Given the description of an element on the screen output the (x, y) to click on. 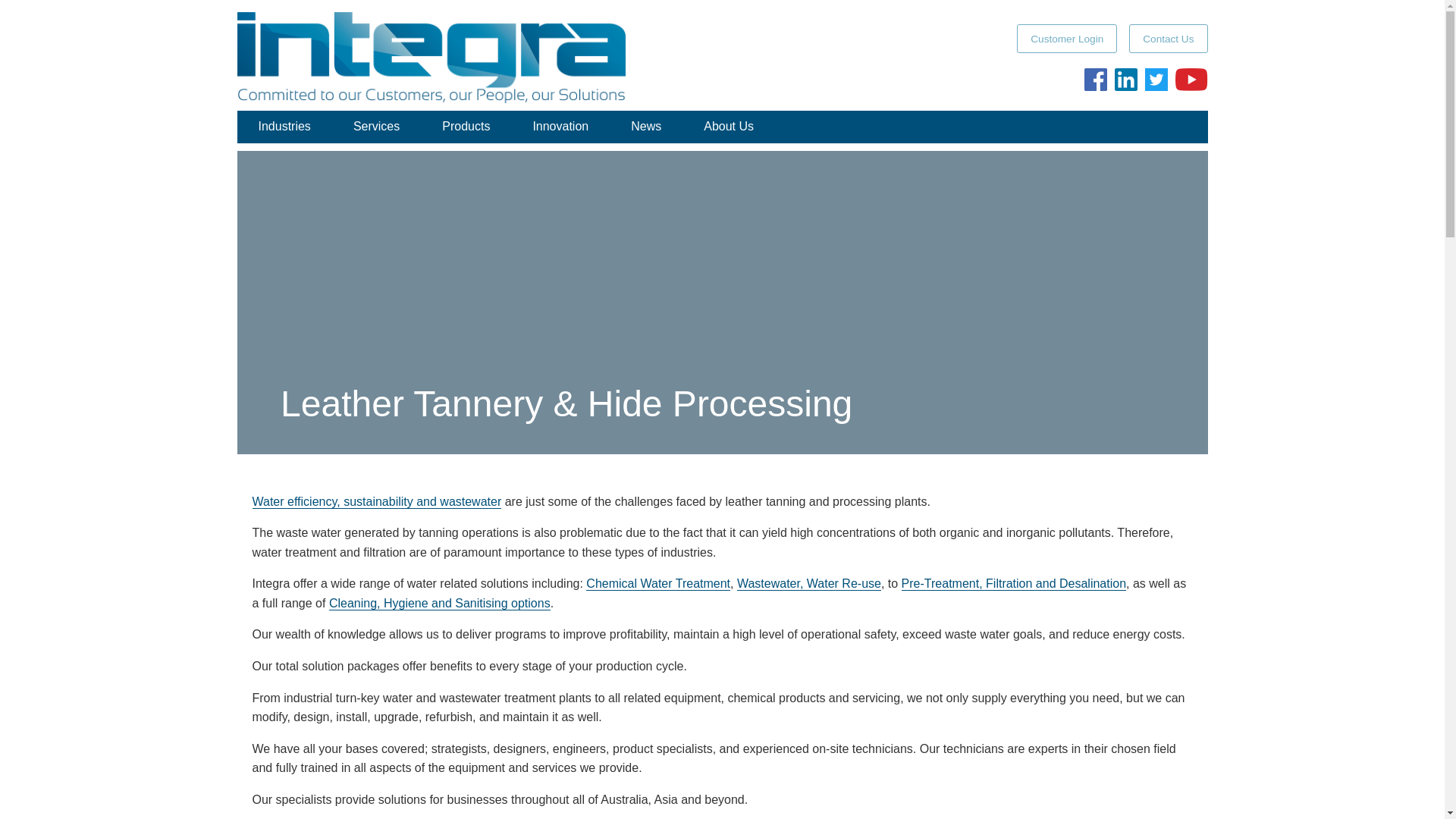
Customer Login (1066, 38)
Contact Us (1168, 38)
Industries (283, 126)
